Given the description of an element on the screen output the (x, y) to click on. 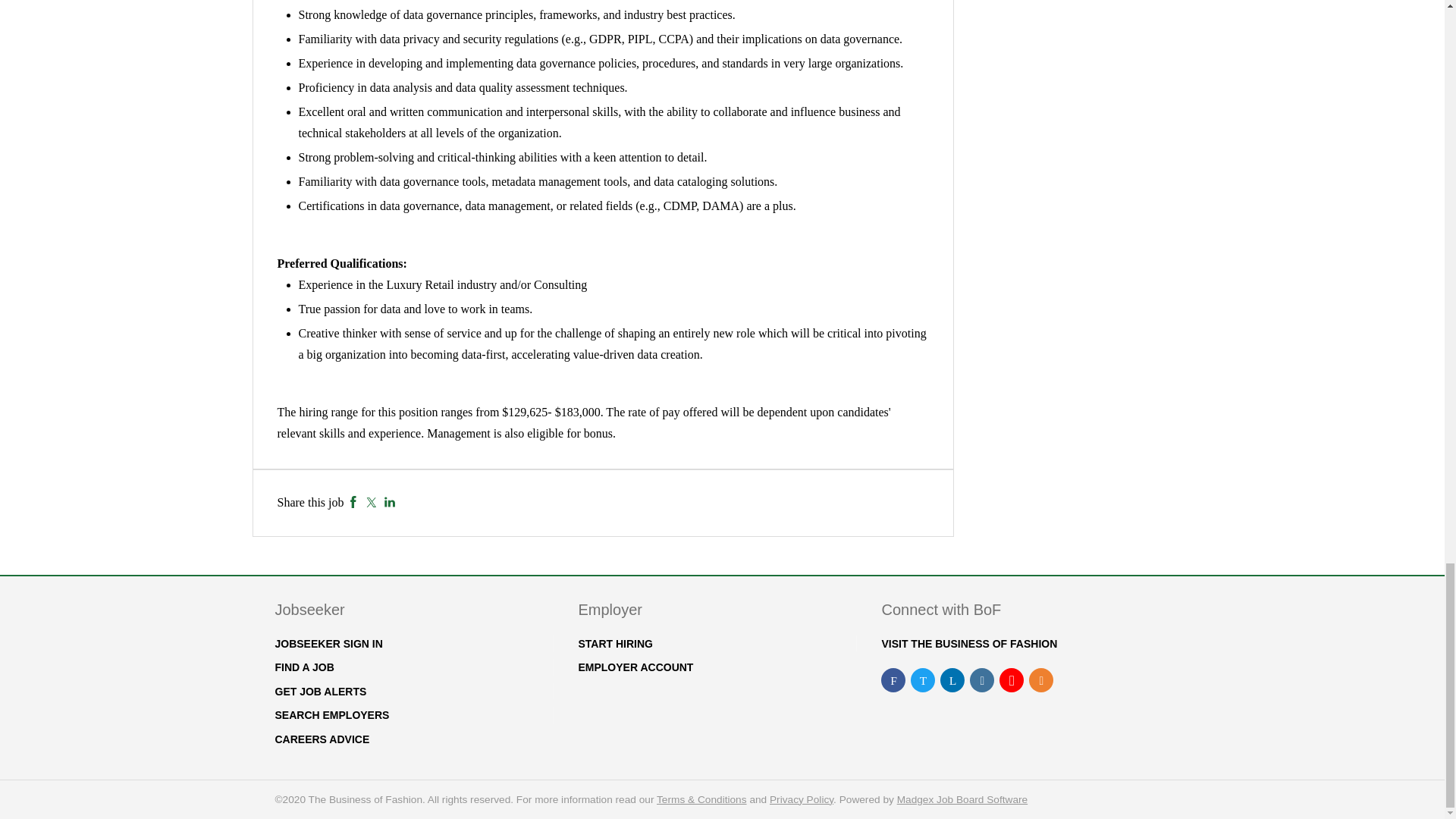
Twitter (371, 502)
FIND A JOB (304, 666)
Facebook (353, 502)
LinkedIn (390, 502)
JOBSEEKER SIGN IN (328, 644)
